Given the description of an element on the screen output the (x, y) to click on. 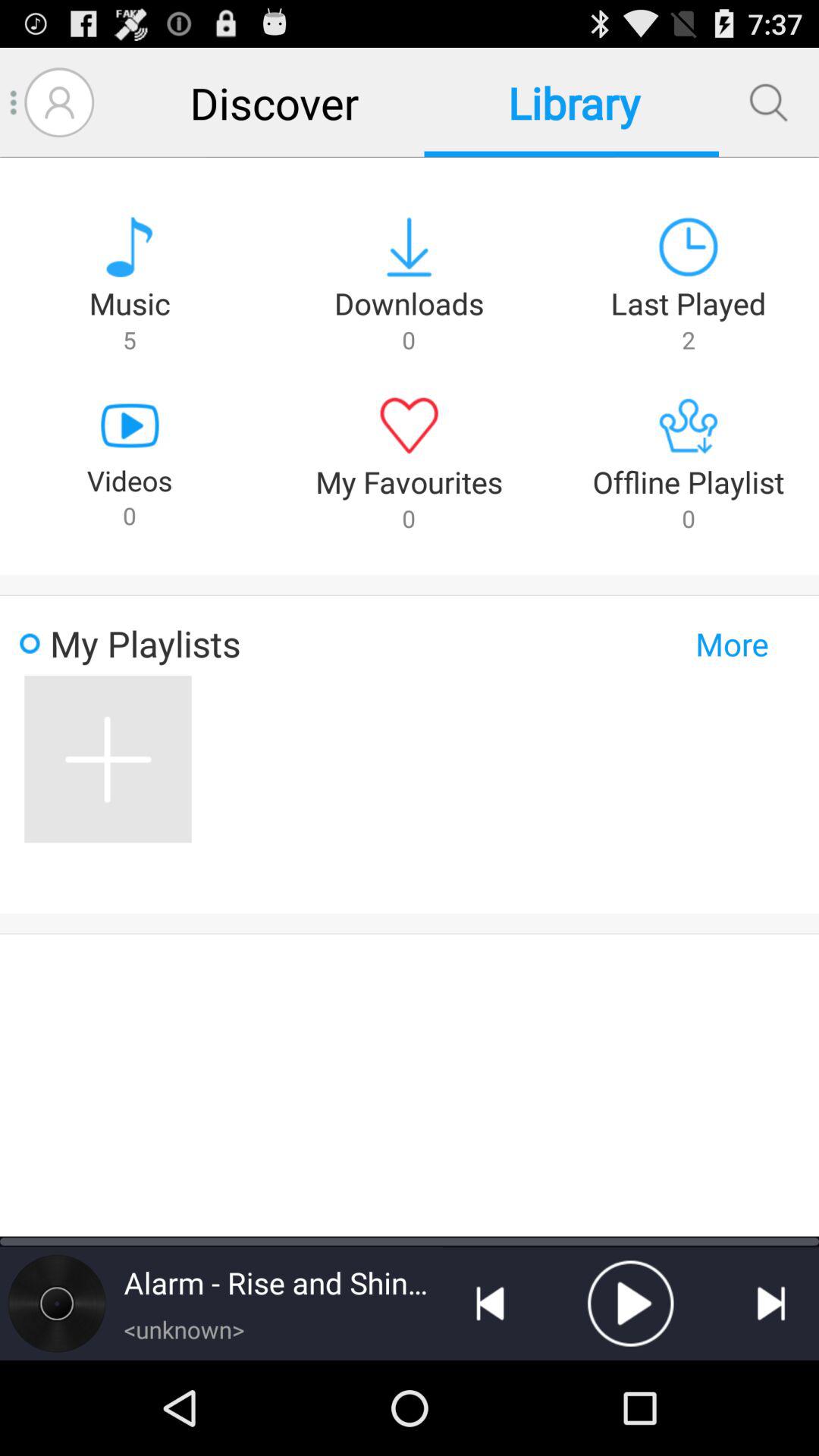
view profile (59, 102)
